Given the description of an element on the screen output the (x, y) to click on. 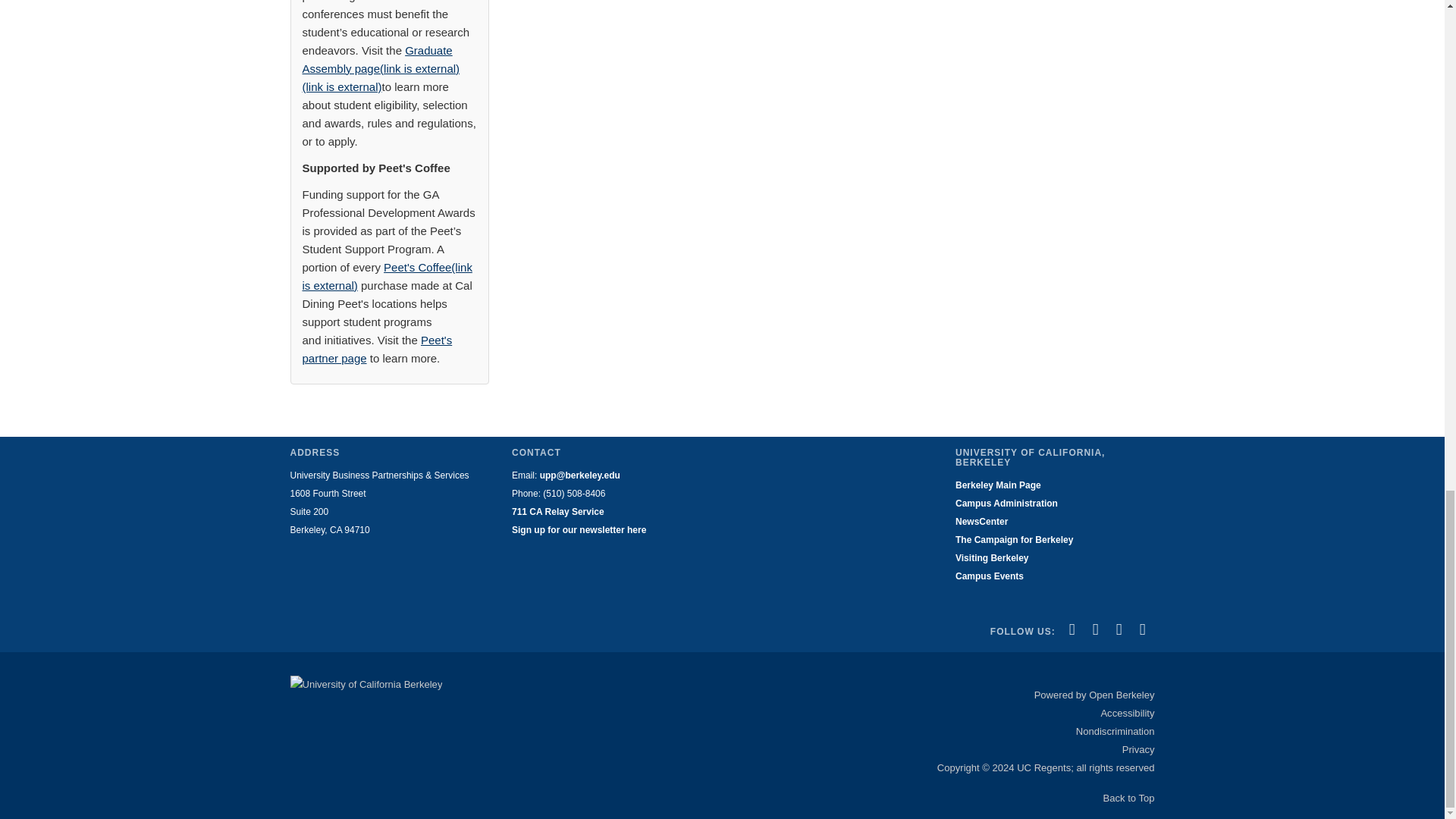
YouTube (1118, 628)
LinkedIn (1095, 628)
Instagram (1142, 628)
Facebook (1071, 628)
